Given the description of an element on the screen output the (x, y) to click on. 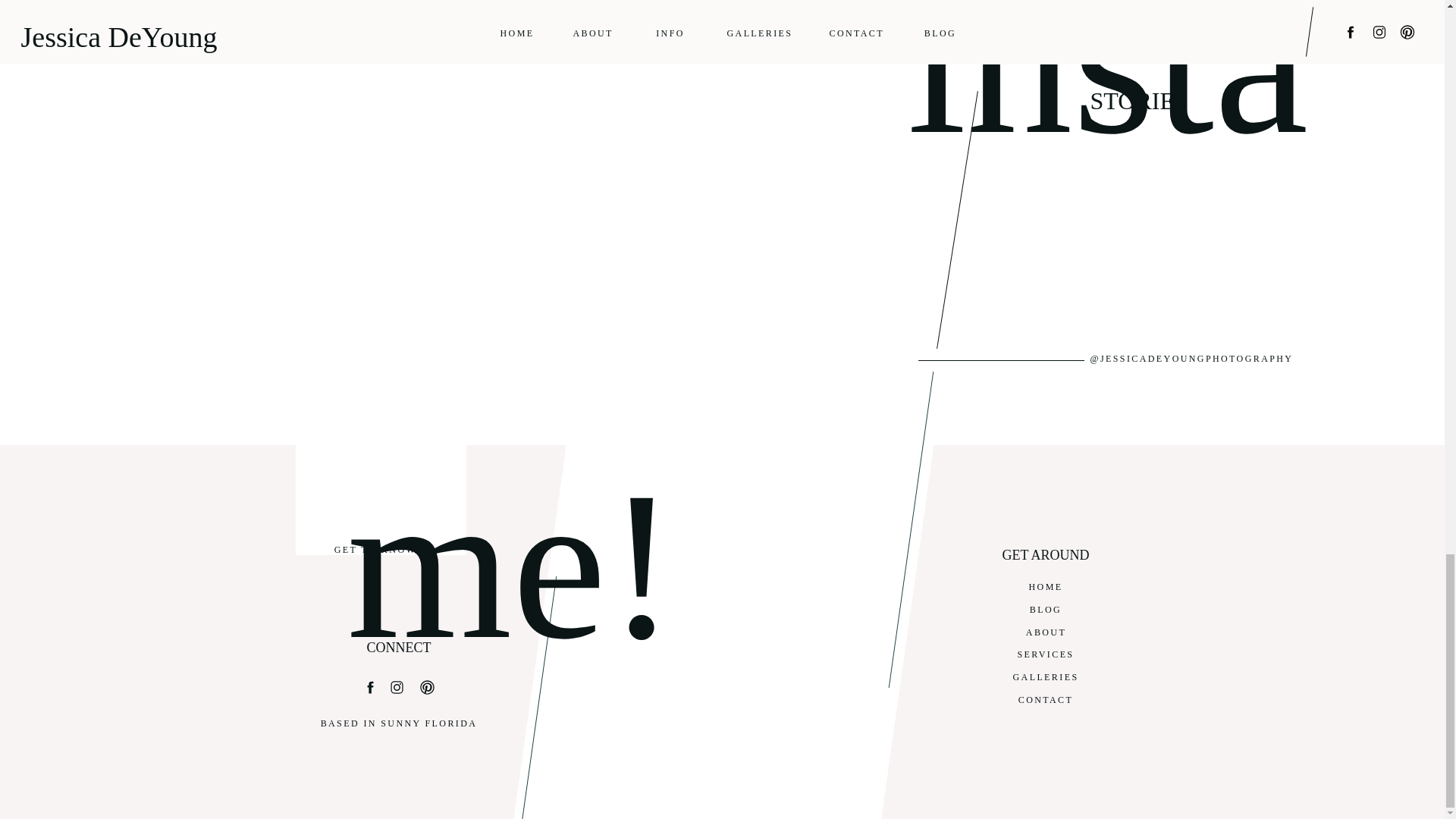
ABOUT (1046, 633)
me! (426, 534)
BLOG (1045, 610)
SERVICES (1045, 655)
GET TO KNOW (374, 548)
HOME (1045, 588)
